Given the description of an element on the screen output the (x, y) to click on. 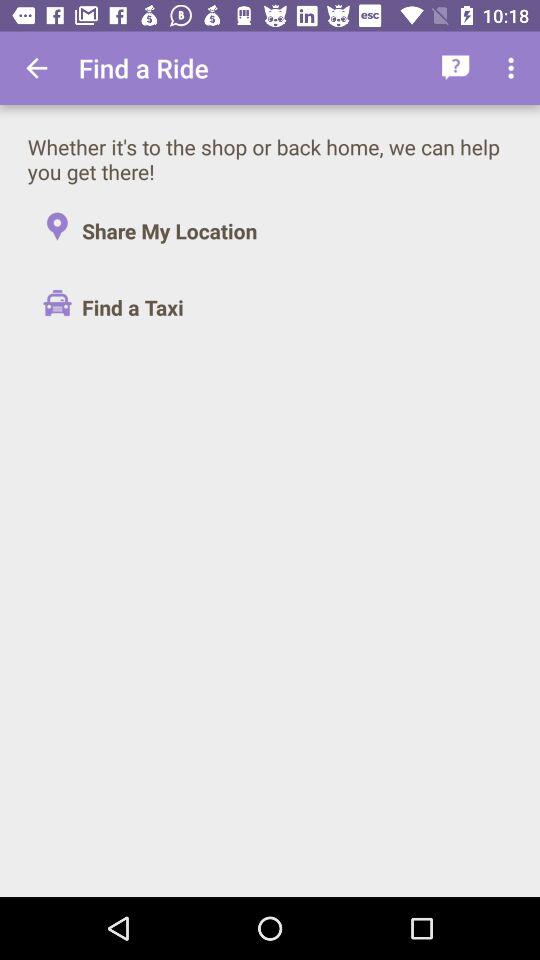
launch the app to the left of the find a ride icon (36, 68)
